Given the description of an element on the screen output the (x, y) to click on. 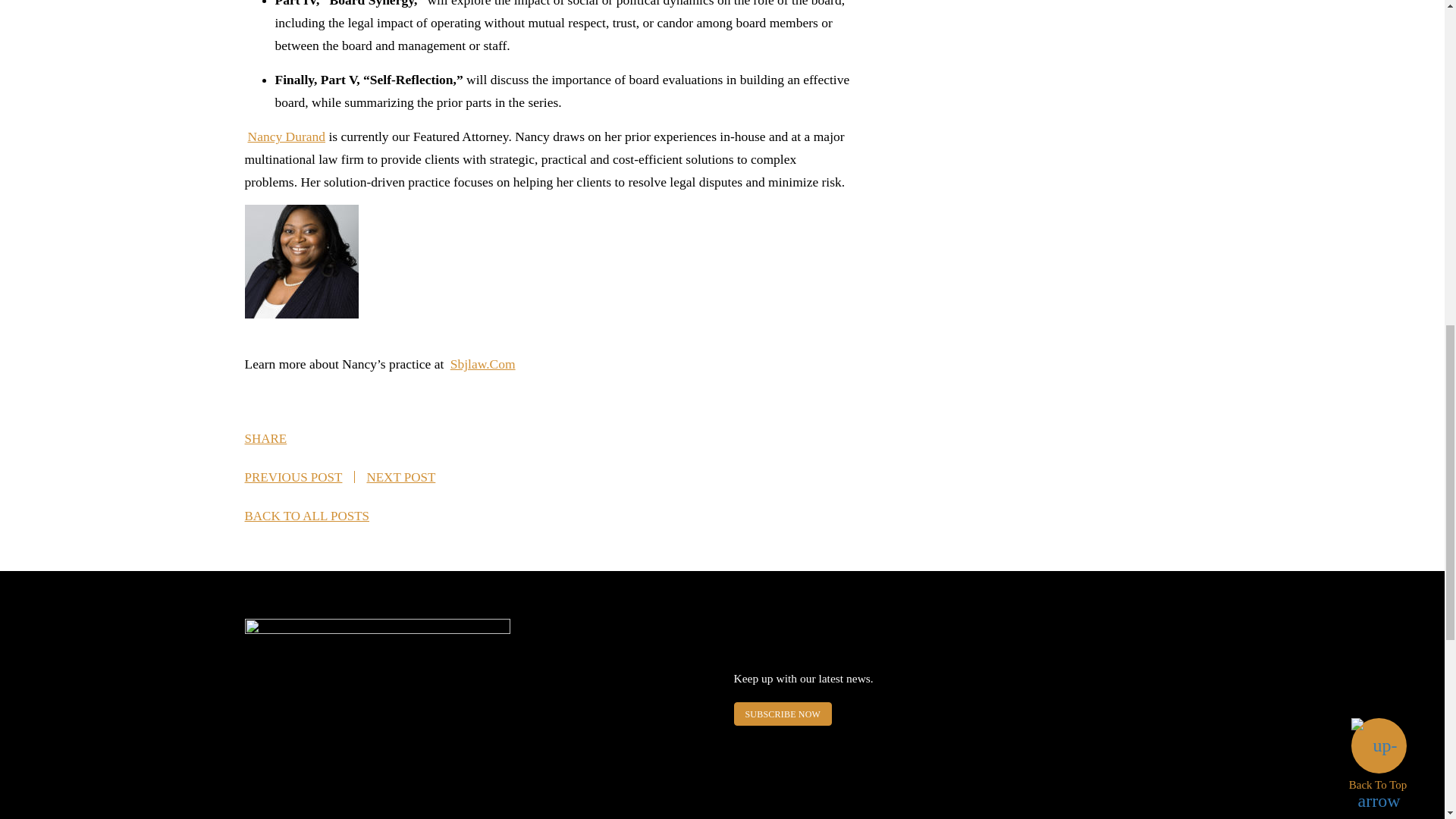
SHARE (281, 437)
SUBSCRIBE NOW (782, 713)
PREVIOUS POST (293, 477)
Nancy Durand (285, 136)
NEXT POST (400, 477)
Sbjlaw.Com (482, 363)
BACK TO ALL POSTS (306, 515)
